Given the description of an element on the screen output the (x, y) to click on. 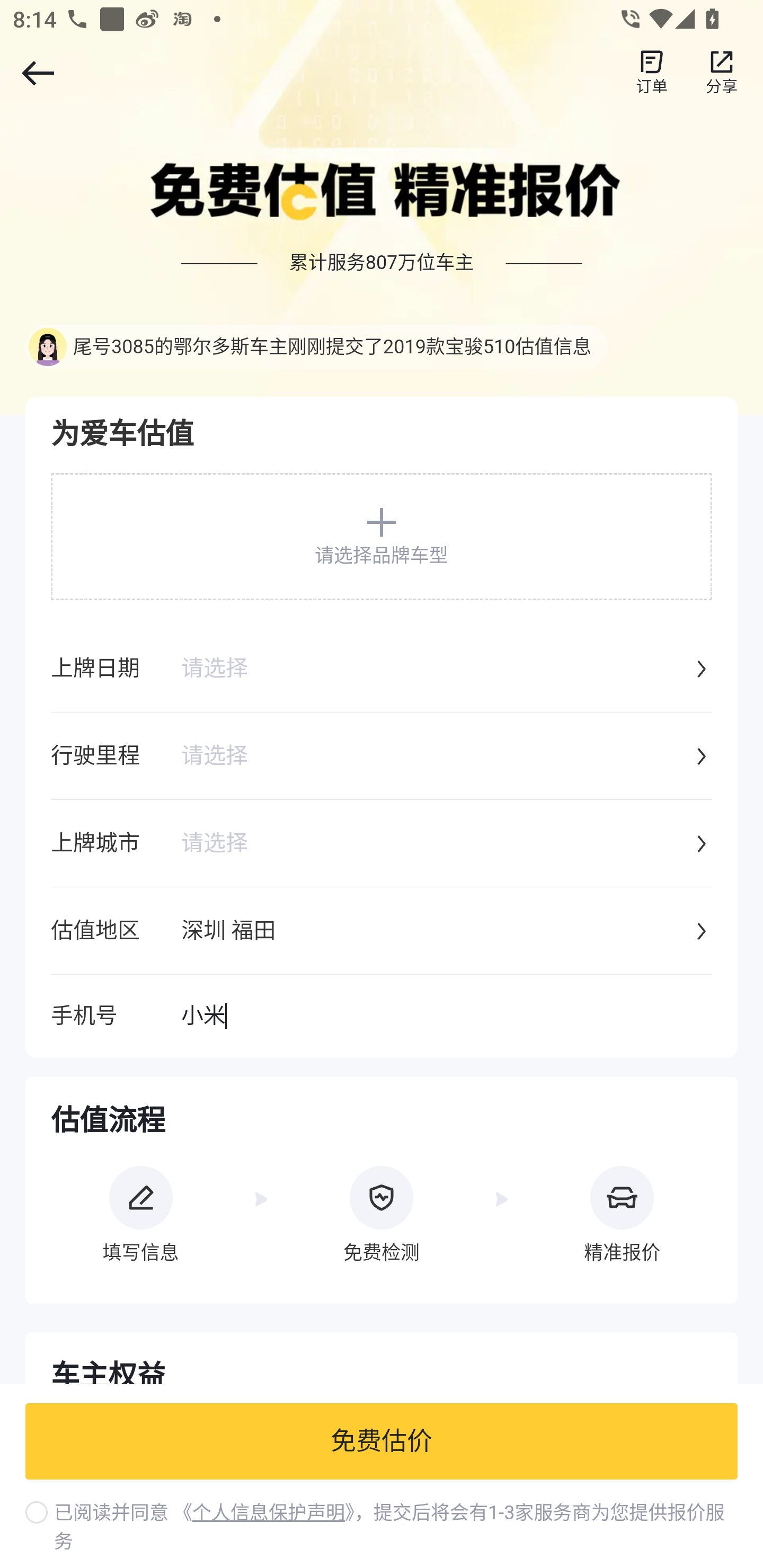
订单 (651, 72)
分享 (721, 72)
请选择品牌车型 (381, 535)
请选择 (435, 669)
请选择 (435, 757)
请选择 (435, 844)
深圳 福田 (435, 932)
小米 (446, 1016)
小米 (446, 1016)
免费估价 (381, 1441)
